Given the description of an element on the screen output the (x, y) to click on. 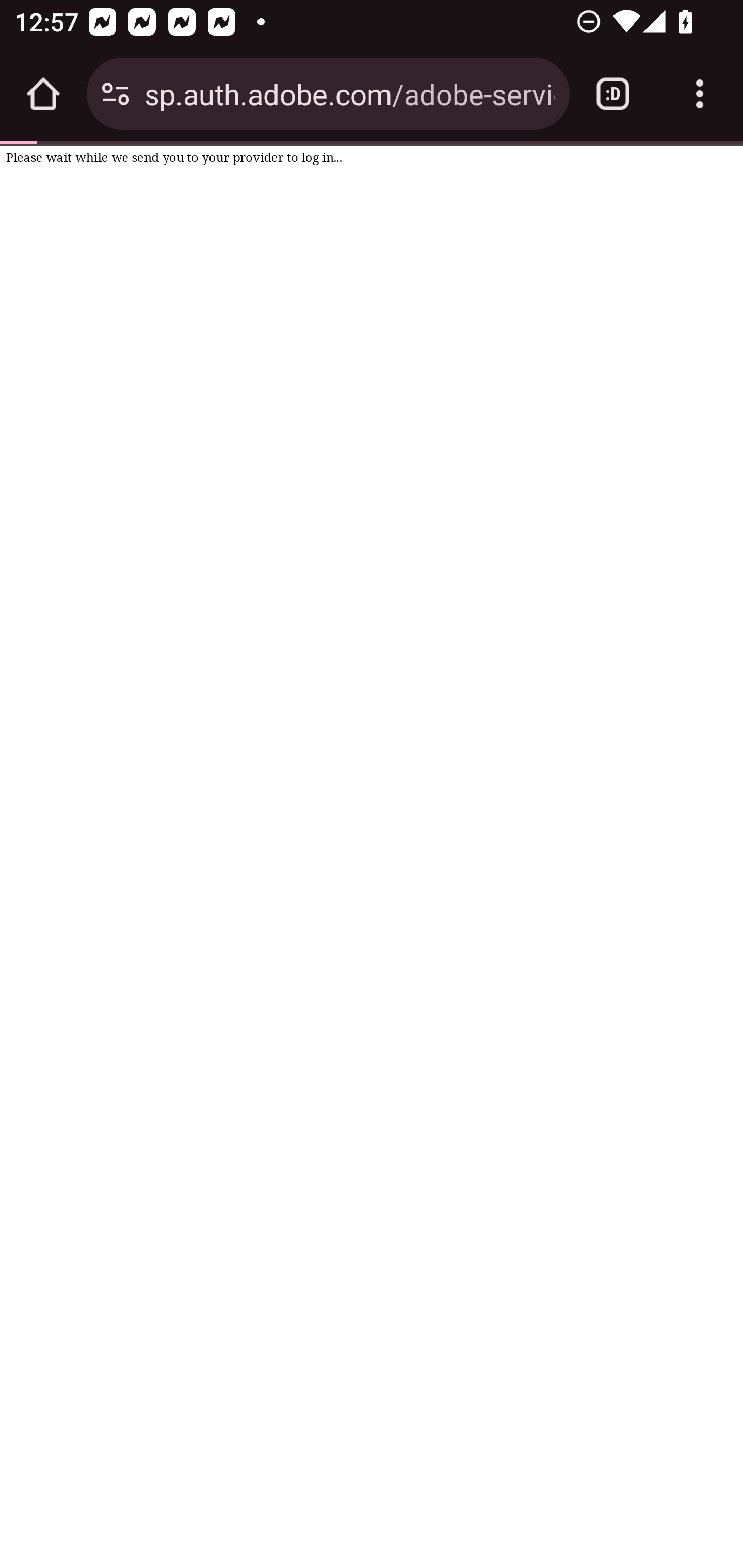
Open the home page (43, 93)
Connection is secure (115, 93)
Switch or close tabs (612, 93)
Customize and control Google Chrome (699, 93)
